Given the description of an element on the screen output the (x, y) to click on. 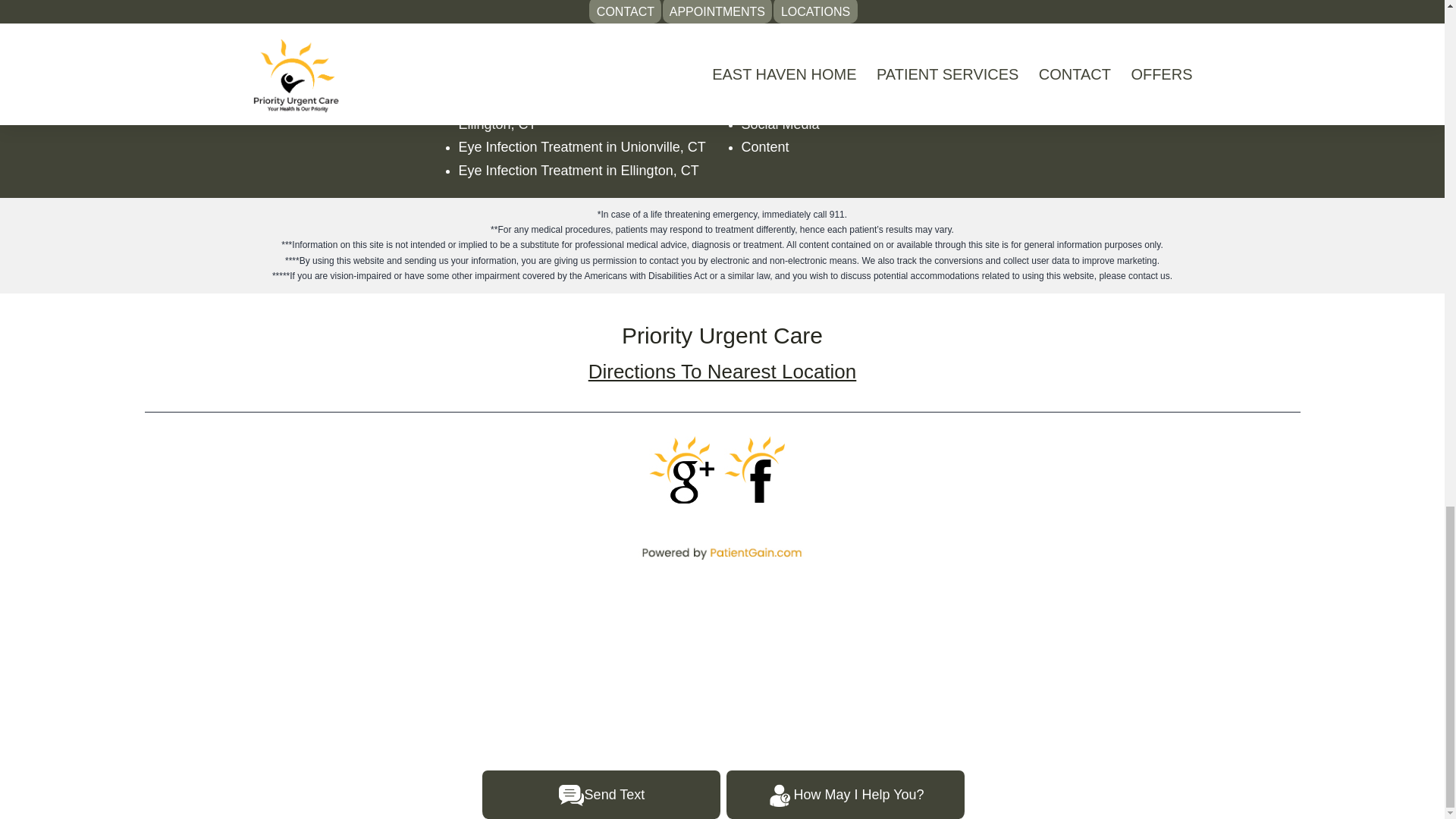
Medical Release Form (244, 30)
UTI Treatment in Unionville, CT (552, 77)
Eye Infection Treatment in Ellington, CT (578, 170)
Eye Infection Treatment in Unionville, CT (581, 146)
Test Results (213, 54)
Directions To Urgent Care Near Ellington, CT (582, 42)
Patient Feedback (229, 7)
Urgent Care Vernon CT (529, 7)
